Given the description of an element on the screen output the (x, y) to click on. 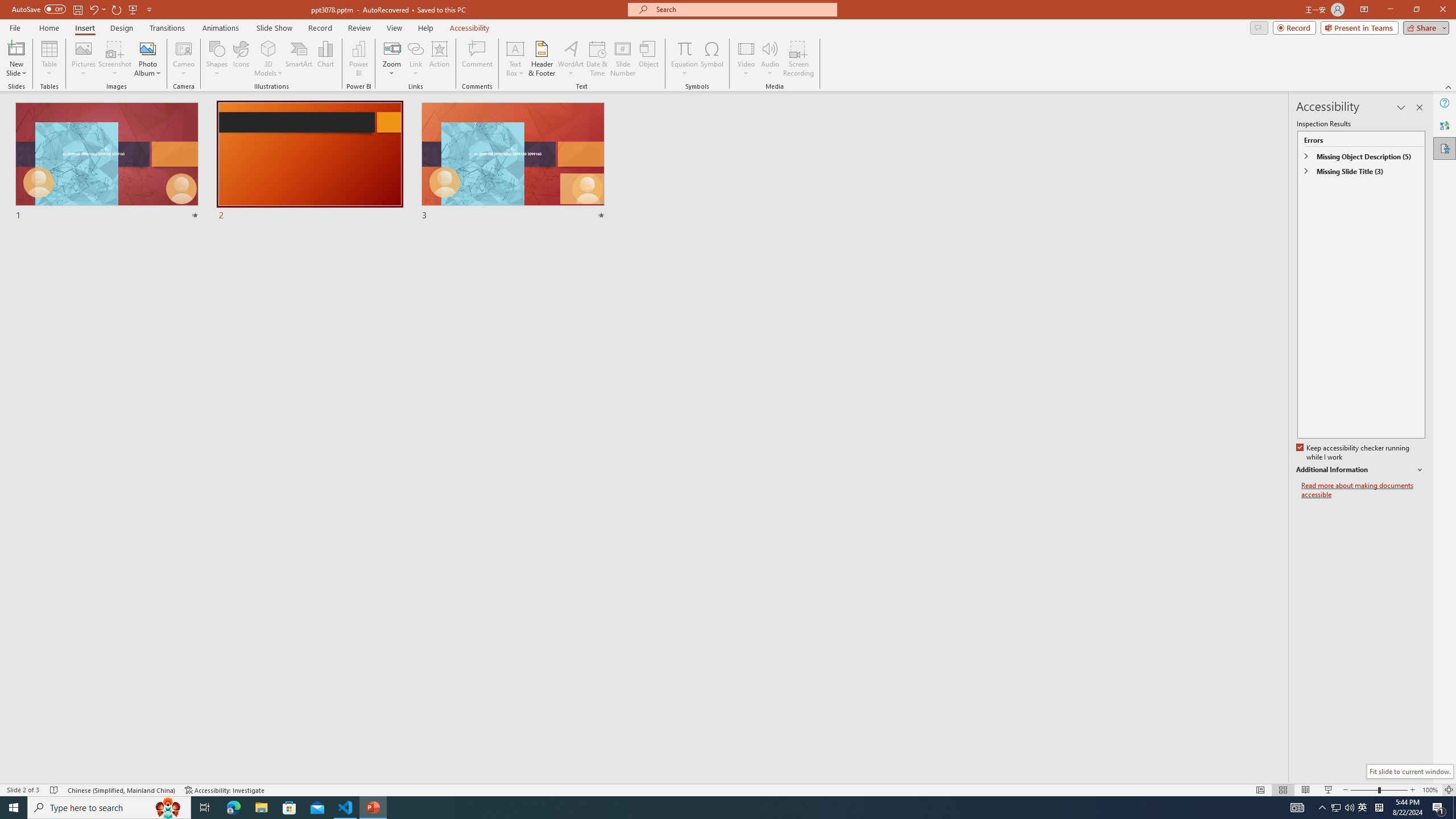
Header & Footer... (541, 58)
Cameo (183, 58)
Task Pane Options (1400, 107)
Review (359, 28)
Accessibility (1444, 147)
Equation (683, 58)
Quick Access Toolbar (82, 9)
Table (49, 58)
Link (415, 48)
Slide (513, 161)
Class: MsoCommandBar (728, 789)
Draw Horizontal Text Box (515, 48)
